Given the description of an element on the screen output the (x, y) to click on. 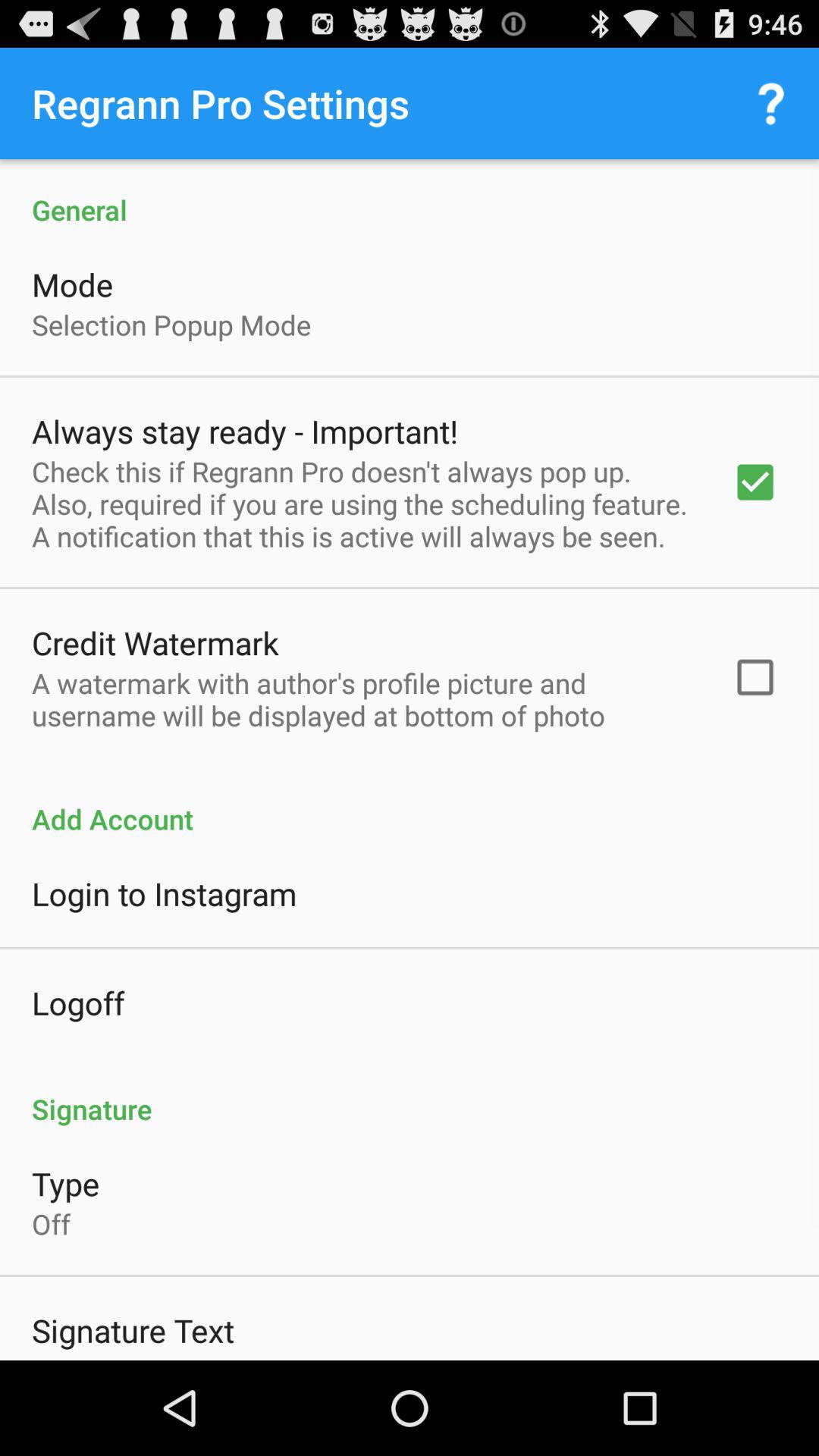
scroll until check this if item (361, 503)
